Given the description of an element on the screen output the (x, y) to click on. 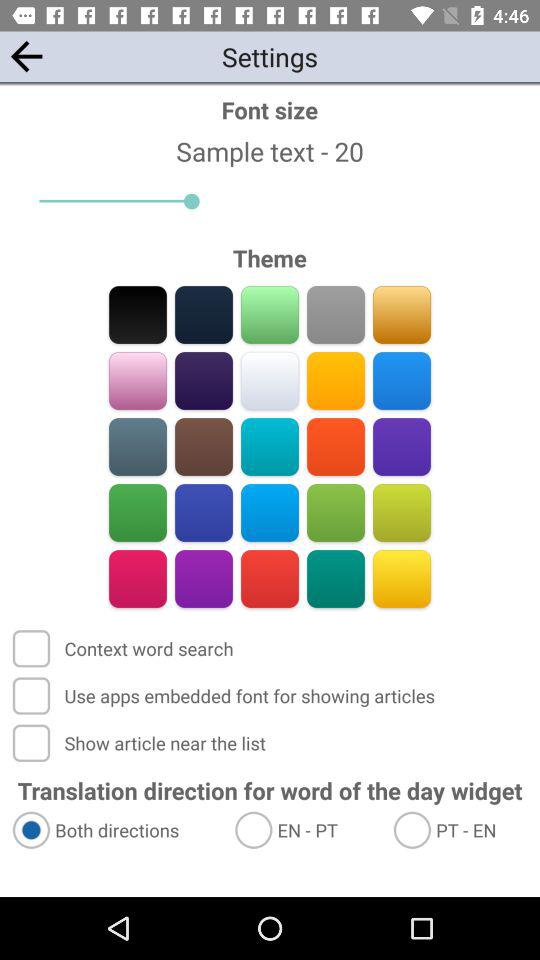
launch app next to font size app (26, 56)
